Given the description of an element on the screen output the (x, y) to click on. 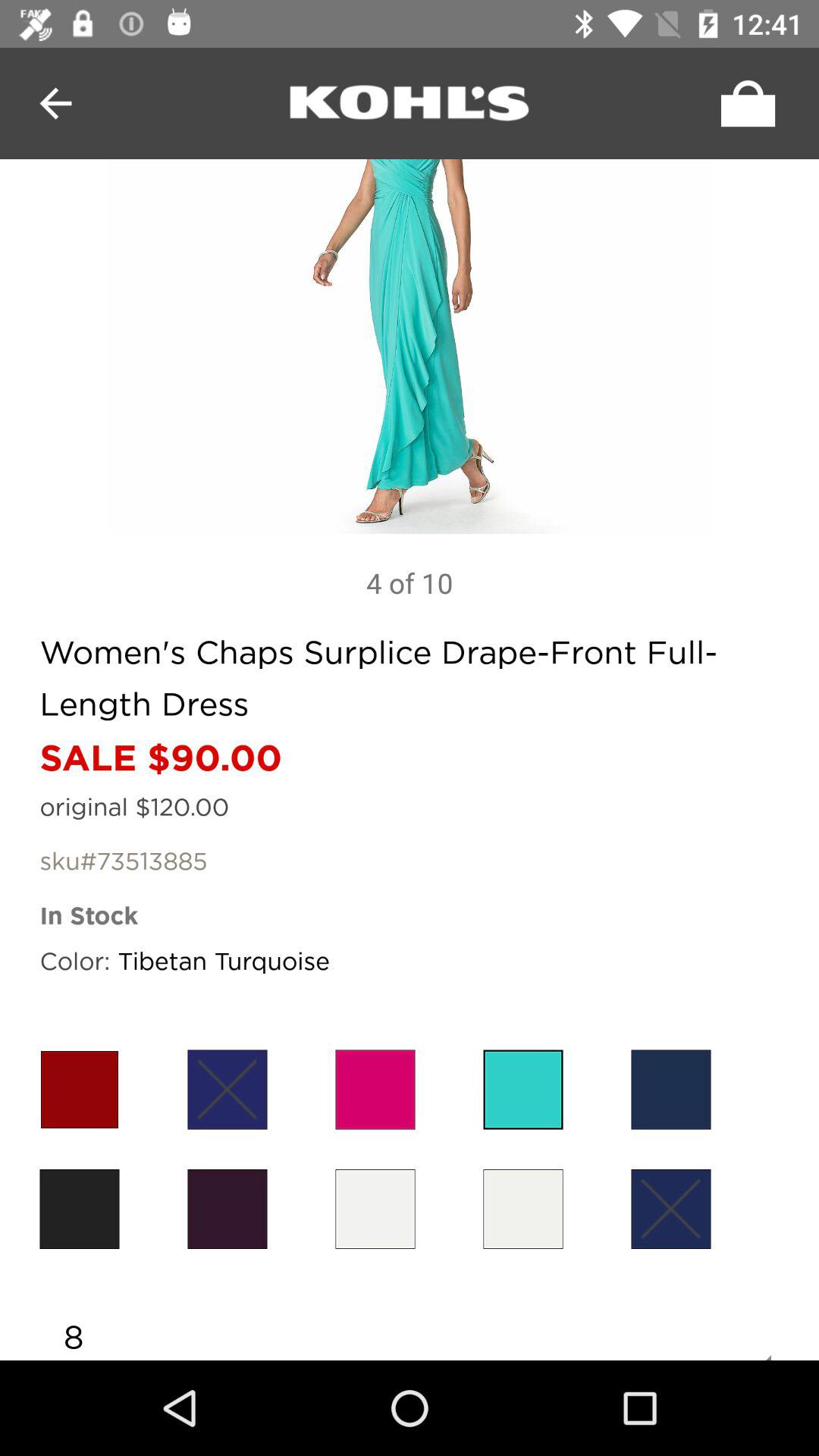
the symbol of cross mark (670, 1208)
